Given the description of an element on the screen output the (x, y) to click on. 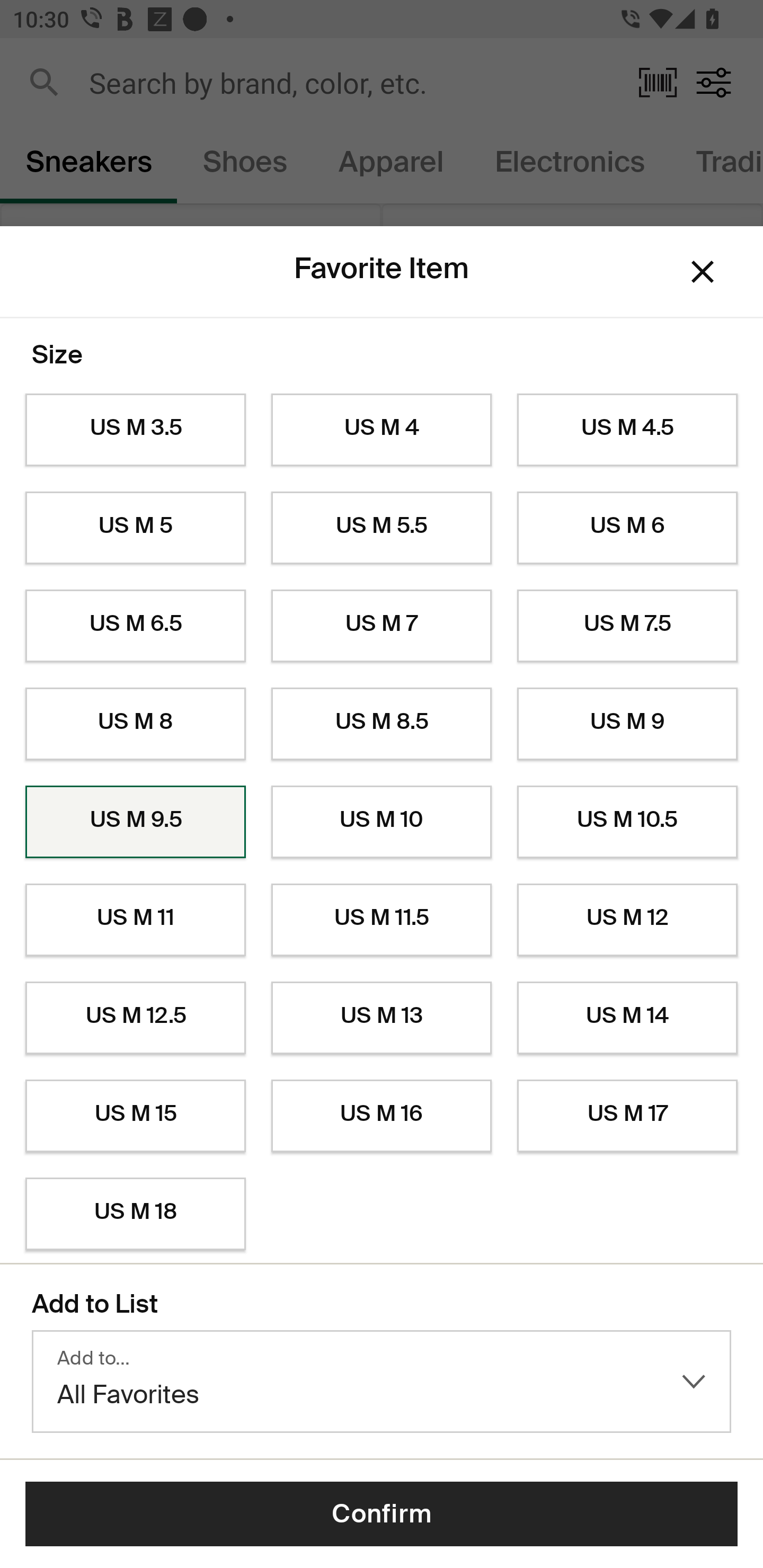
Dismiss (702, 271)
US M 3.5 (135, 430)
US M 4 (381, 430)
US M 4.5 (627, 430)
US M 5 (135, 527)
US M 5.5 (381, 527)
US M 6 (627, 527)
US M 6.5 (135, 626)
US M 7 (381, 626)
US M 7.5 (627, 626)
US M 8 (135, 724)
US M 8.5 (381, 724)
US M 9 (627, 724)
US M 9.5 (135, 822)
US M 10 (381, 822)
US M 10.5 (627, 822)
US M 11 (135, 919)
US M 11.5 (381, 919)
US M 12 (627, 919)
US M 12.5 (135, 1018)
US M 13 (381, 1018)
US M 14 (627, 1018)
US M 15 (135, 1116)
US M 16 (381, 1116)
US M 17 (627, 1116)
US M 18 (135, 1214)
Add to… All Favorites (381, 1381)
Confirm (381, 1513)
